Given the description of an element on the screen output the (x, y) to click on. 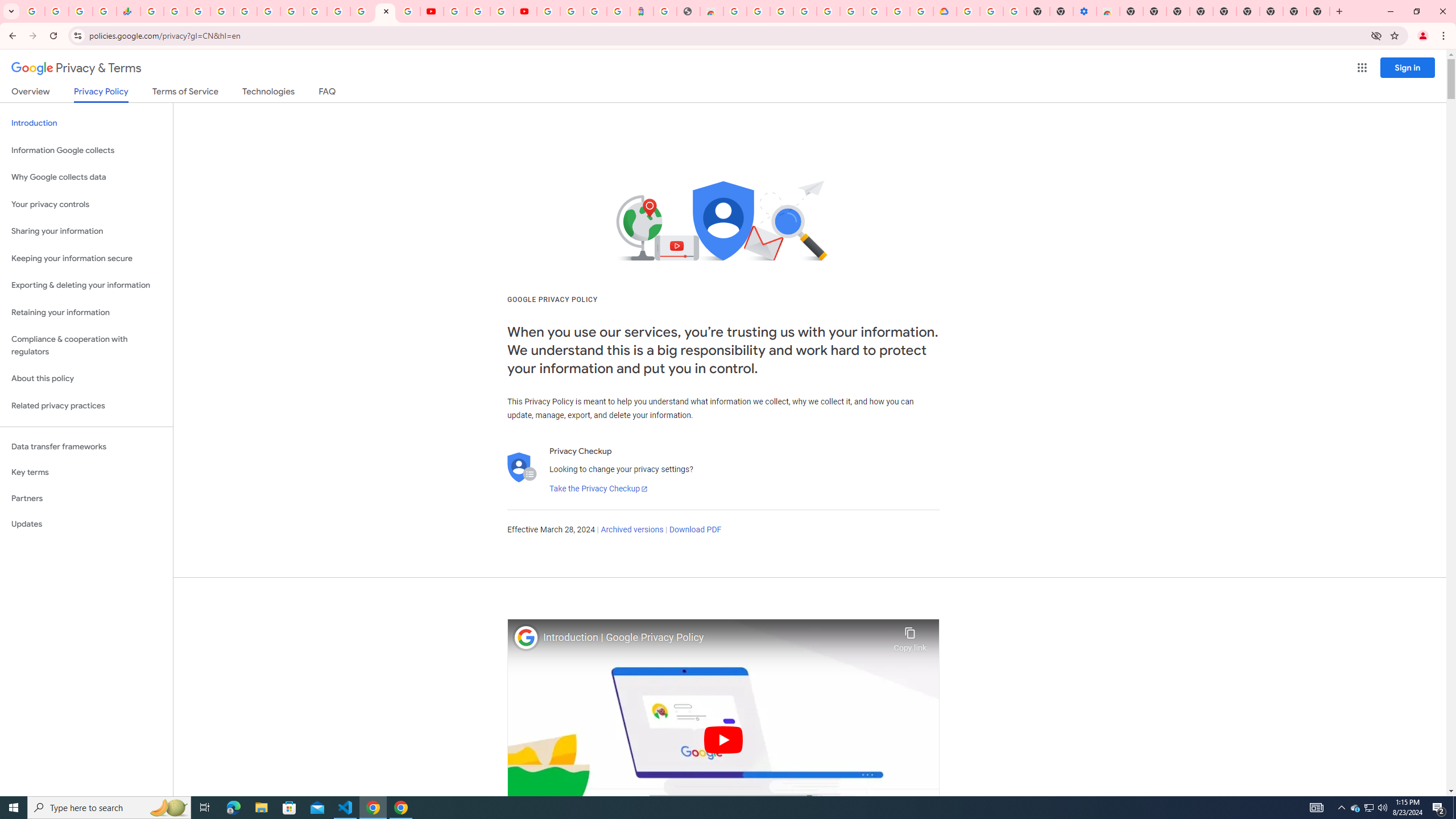
Content Creator Programs & Opportunities - YouTube Creators (524, 11)
Keeping your information secure (86, 258)
Atour Hotel - Google hotels (641, 11)
Create your Google Account (757, 11)
Sign in - Google Accounts (968, 11)
Settings - Accessibility (1085, 11)
Retaining your information (86, 312)
Sign in - Google Accounts (338, 11)
About this policy (86, 379)
